Given the description of an element on the screen output the (x, y) to click on. 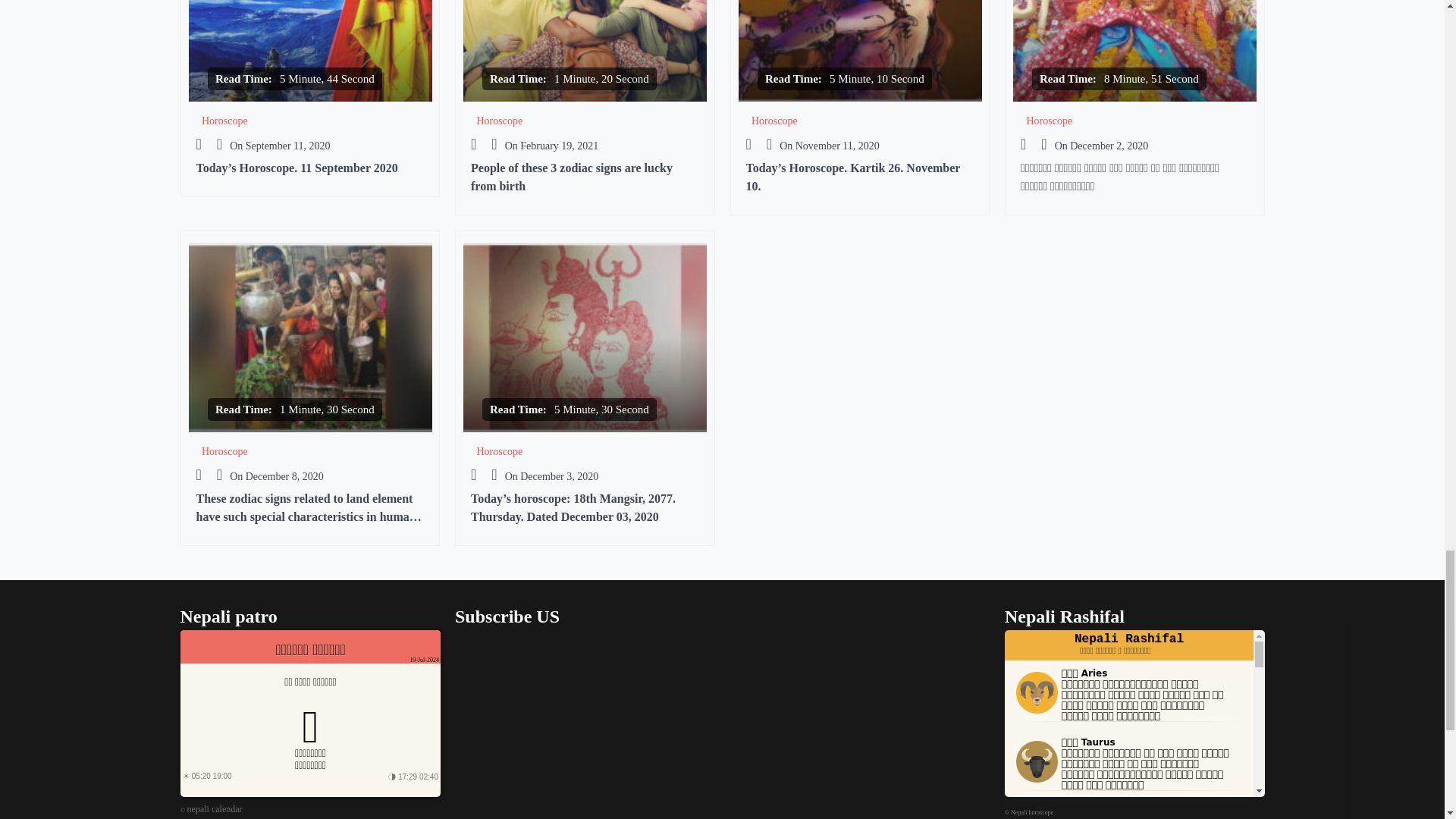
Nepali horoscope (1031, 812)
Nepali calendar (215, 808)
